Given the description of an element on the screen output the (x, y) to click on. 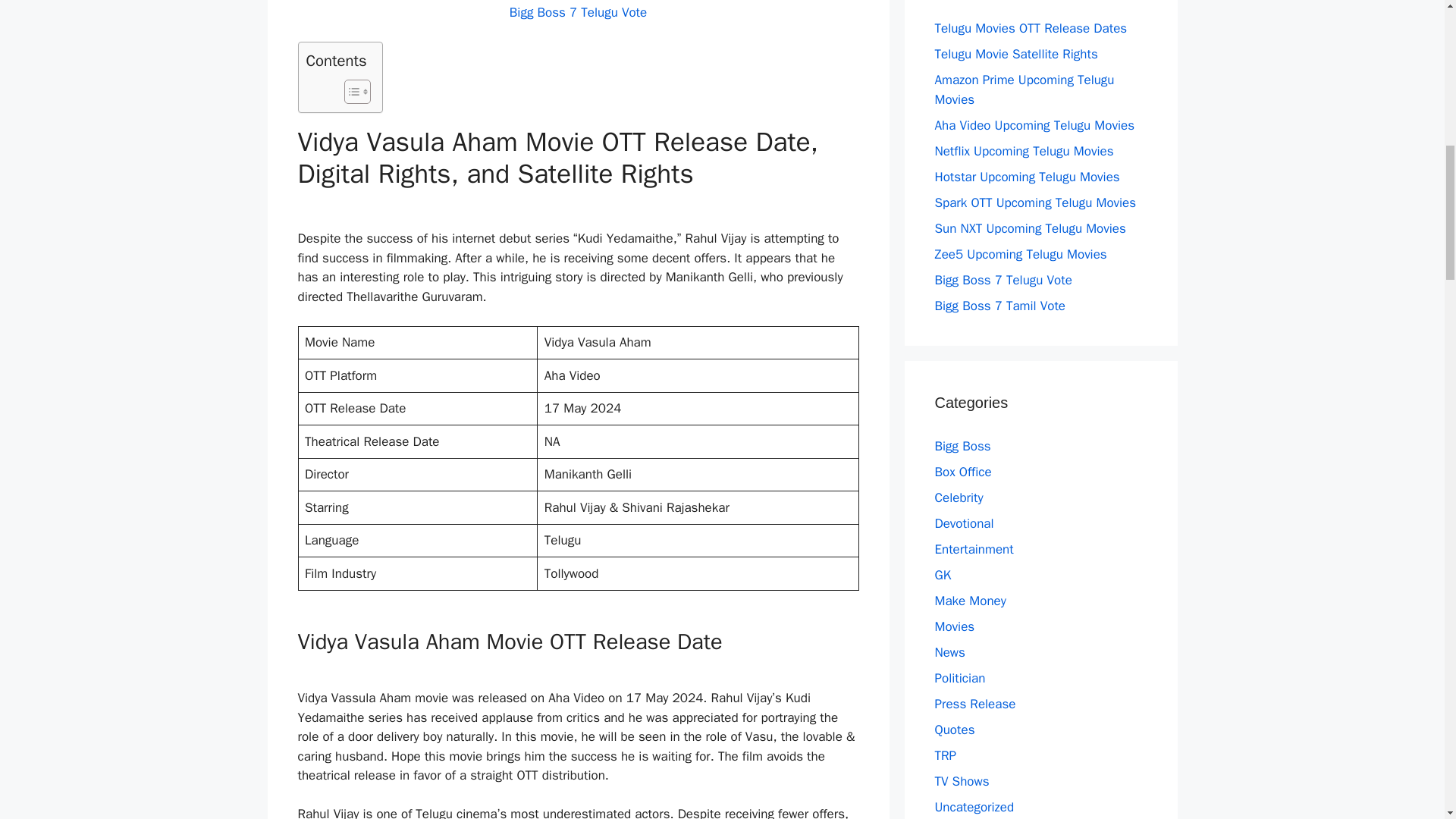
Bigg Boss 7 Telugu Vote (577, 12)
